Given the description of an element on the screen output the (x, y) to click on. 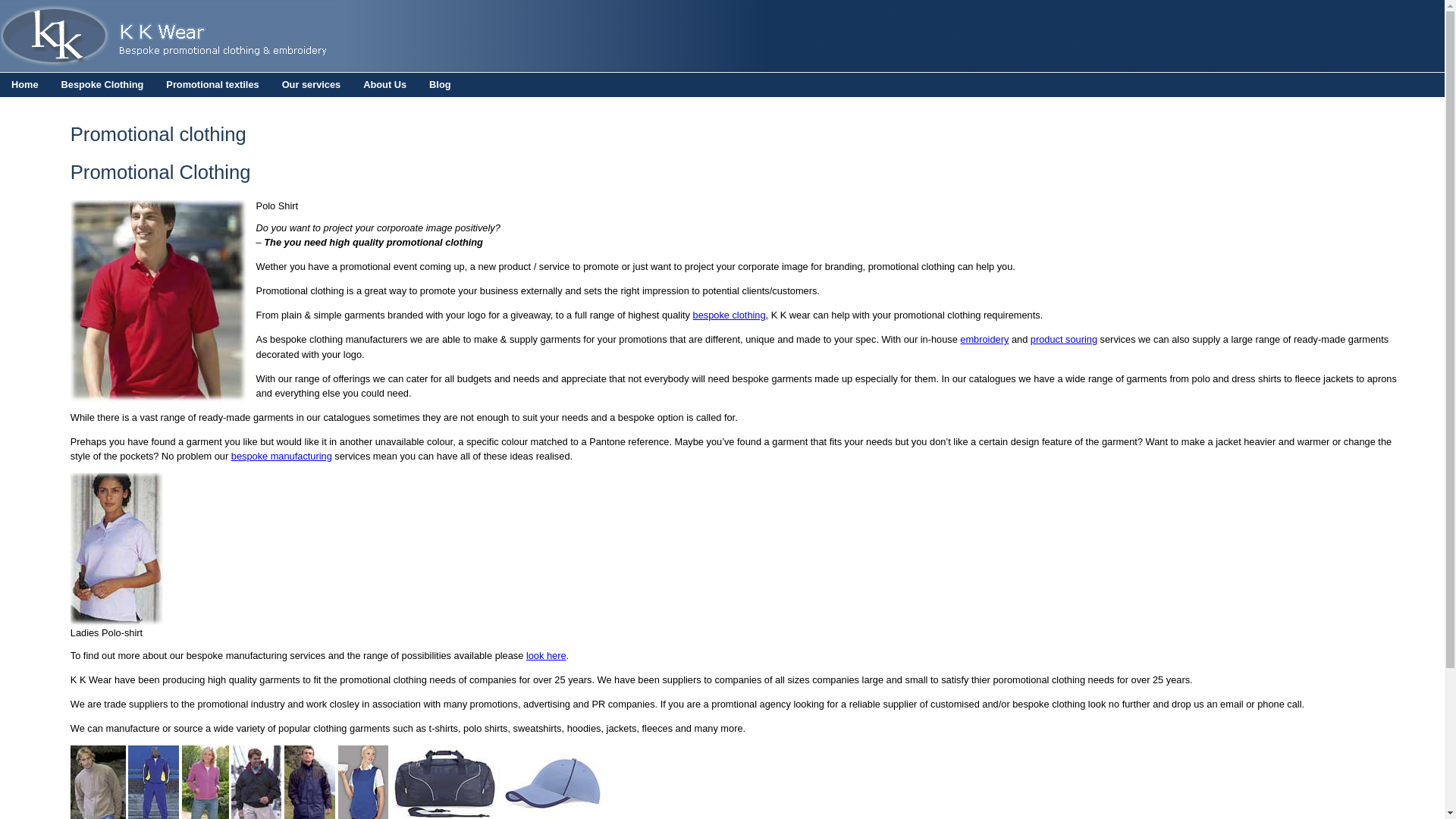
Home (24, 84)
Bespoke Clothing Manufacture (281, 455)
product souring (1063, 338)
Embroidery (984, 338)
bespoke manufacturing (281, 455)
bespoke clothing (729, 315)
About Us (384, 84)
Promotional textiles (211, 84)
Product sourcing (1063, 338)
look here (545, 655)
